Given the description of an element on the screen output the (x, y) to click on. 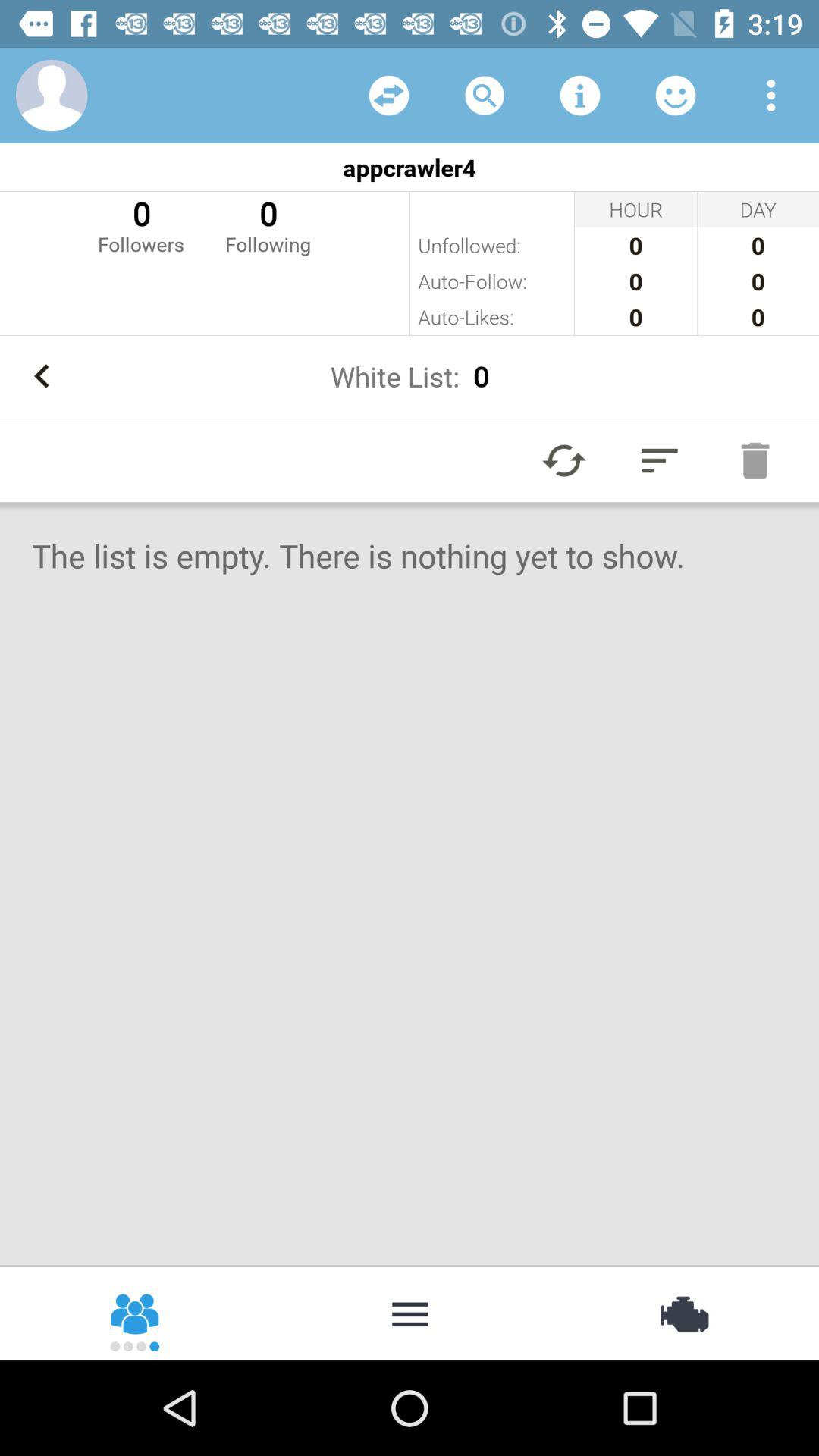
press icon above appcrawler4 item (484, 95)
